Given the description of an element on the screen output the (x, y) to click on. 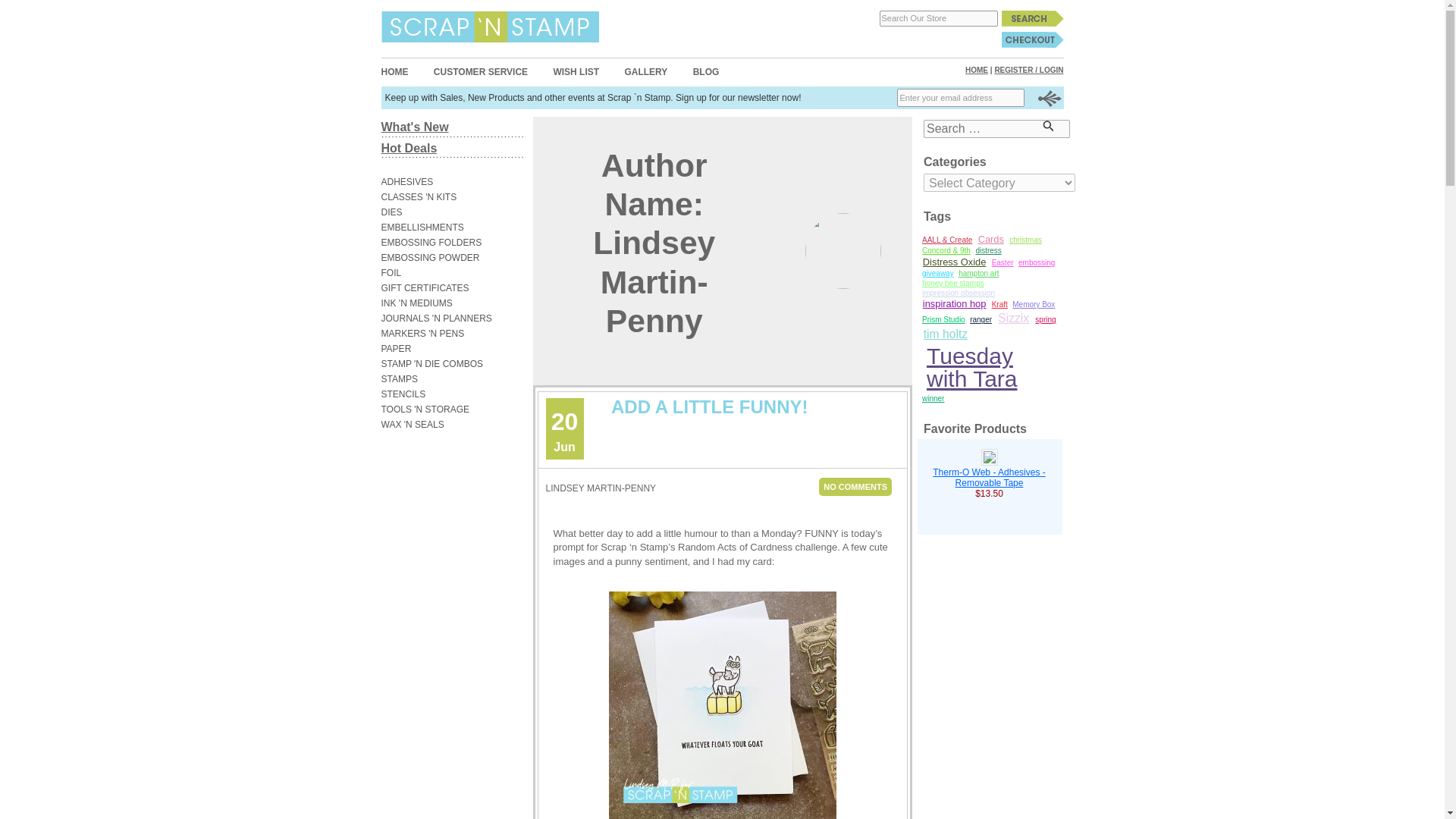
HOME (976, 70)
1 topic (946, 251)
1 topic (938, 273)
Enter your email address (959, 97)
CUSTOMER SERVICE (480, 71)
Hot Deals (408, 147)
GALLERY (645, 71)
1 topic (1025, 239)
1 topic (947, 239)
What's New (414, 126)
WISH LIST (575, 71)
1 topic (1036, 262)
HOME (393, 71)
1 topic (978, 273)
1 topic (953, 283)
